Given the description of an element on the screen output the (x, y) to click on. 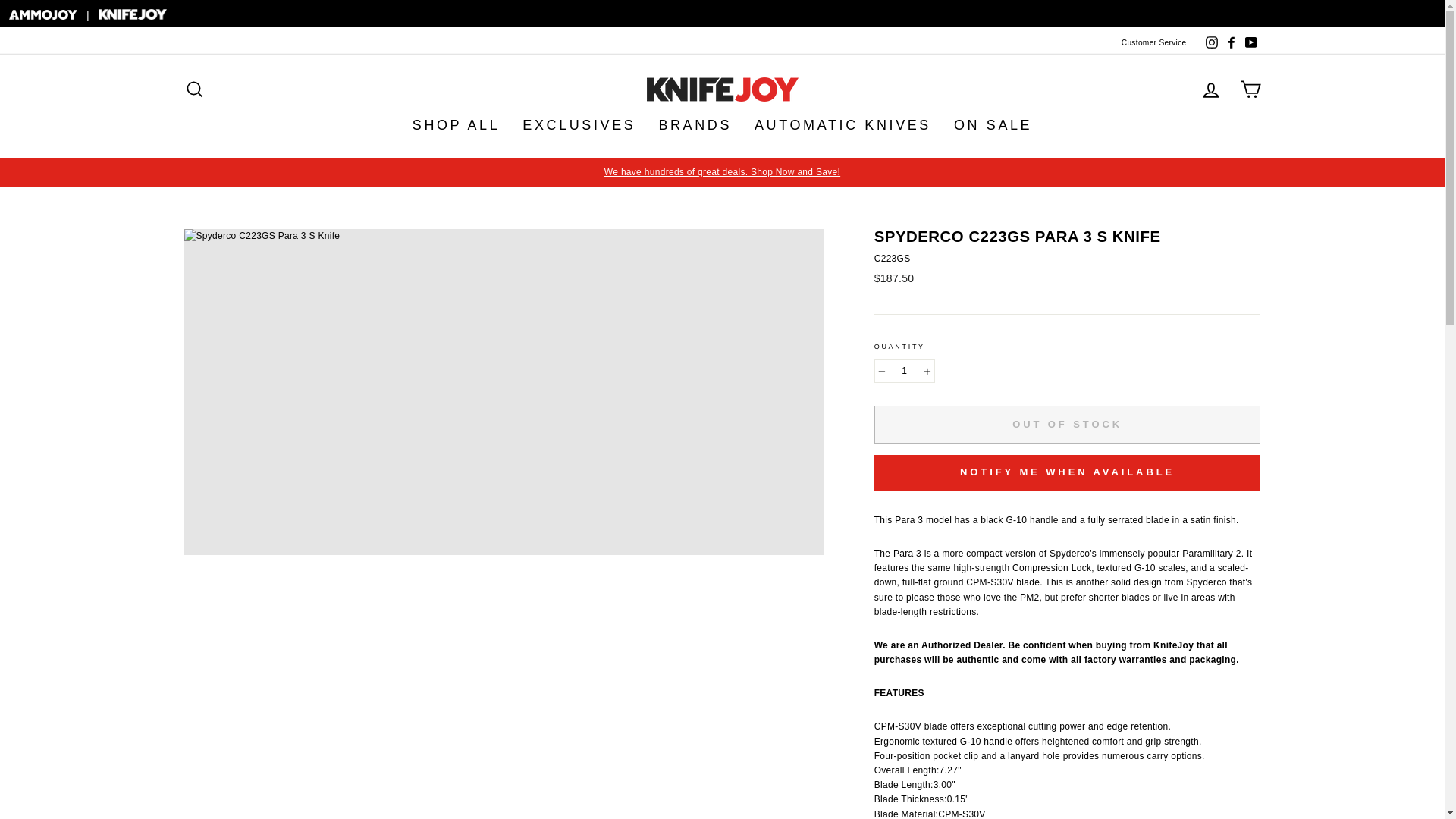
KnifeJoy on Instagram (1211, 43)
KnifeJoy on Facebook (1230, 43)
1 (904, 371)
KnifeJoy on YouTube (1250, 43)
